Given the description of an element on the screen output the (x, y) to click on. 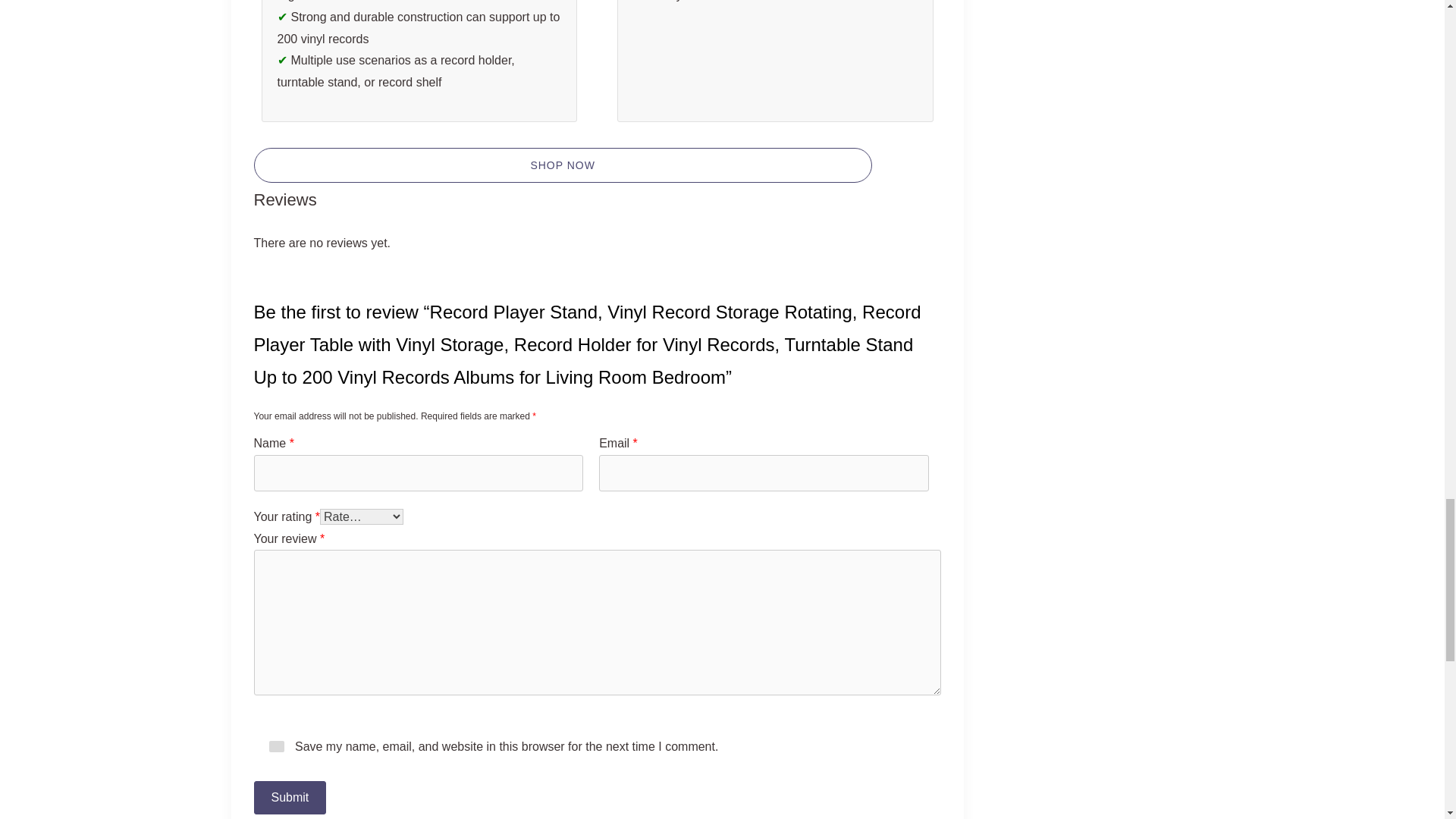
yes (275, 746)
Submit (289, 797)
SHOP NOW (561, 165)
Submit (289, 797)
